Given the description of an element on the screen output the (x, y) to click on. 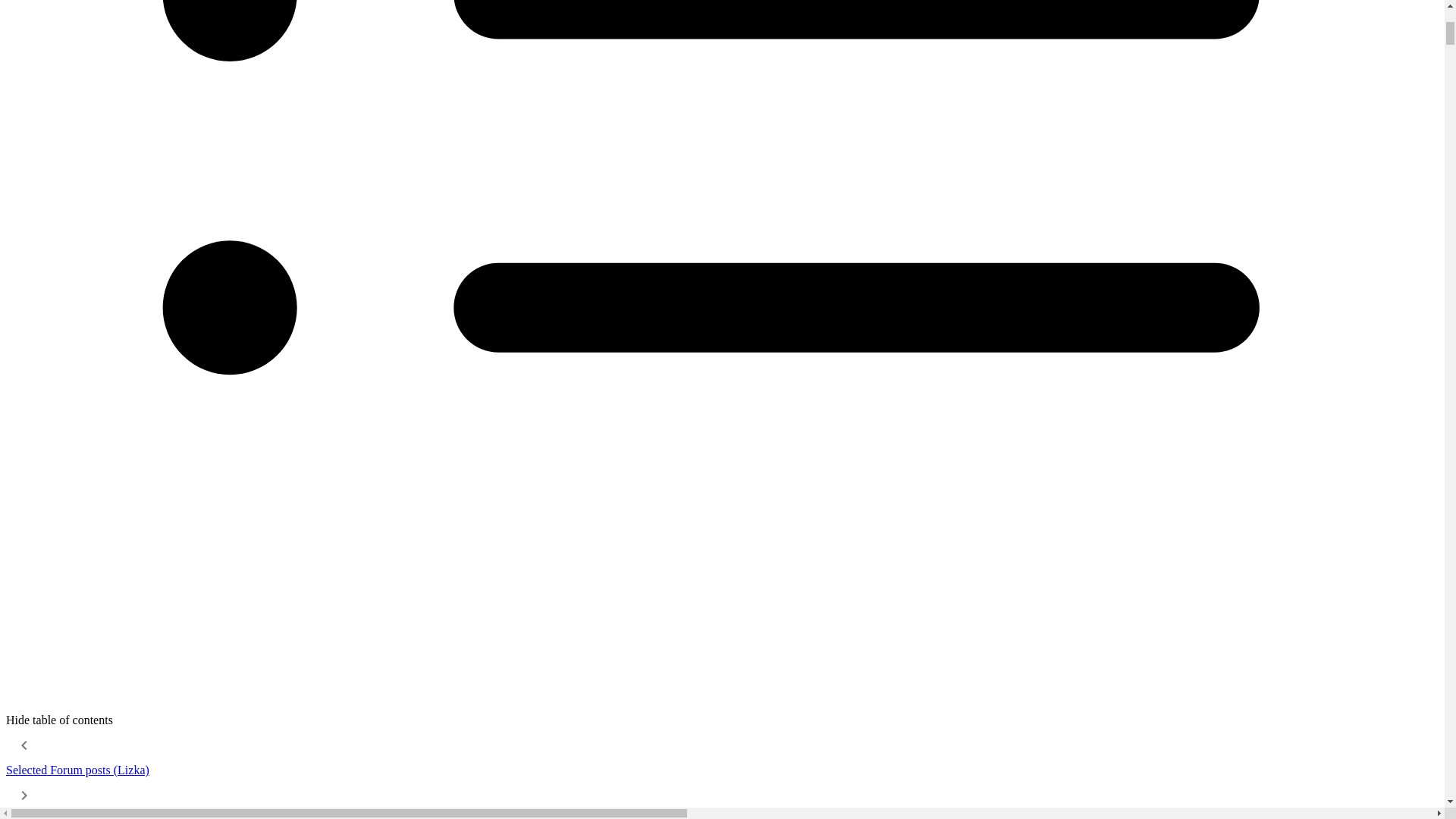
Issues with Futarchy (23, 744)
